Given the description of an element on the screen output the (x, y) to click on. 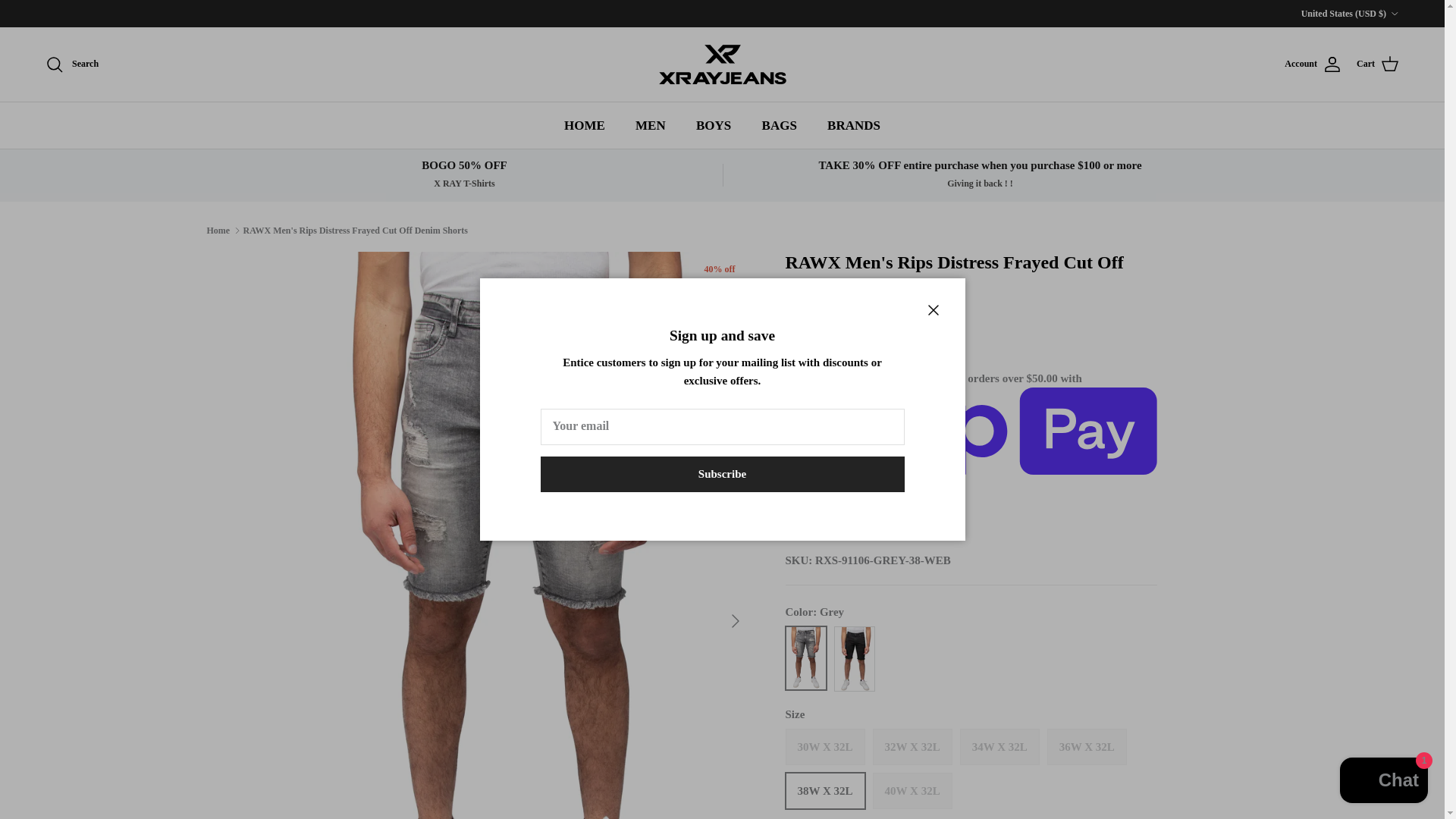
MEN (650, 124)
BOYS (713, 124)
Sold out (999, 746)
Cart (1377, 64)
BAGS (779, 124)
Sold out (1086, 746)
HOME (584, 124)
Sold out (825, 746)
Account (1312, 64)
Shopify online store chat (1383, 781)
BRANDS (853, 124)
Sold out (912, 746)
Search (72, 64)
X-RAY JEANS (721, 64)
Sold out (912, 791)
